Given the description of an element on the screen output the (x, y) to click on. 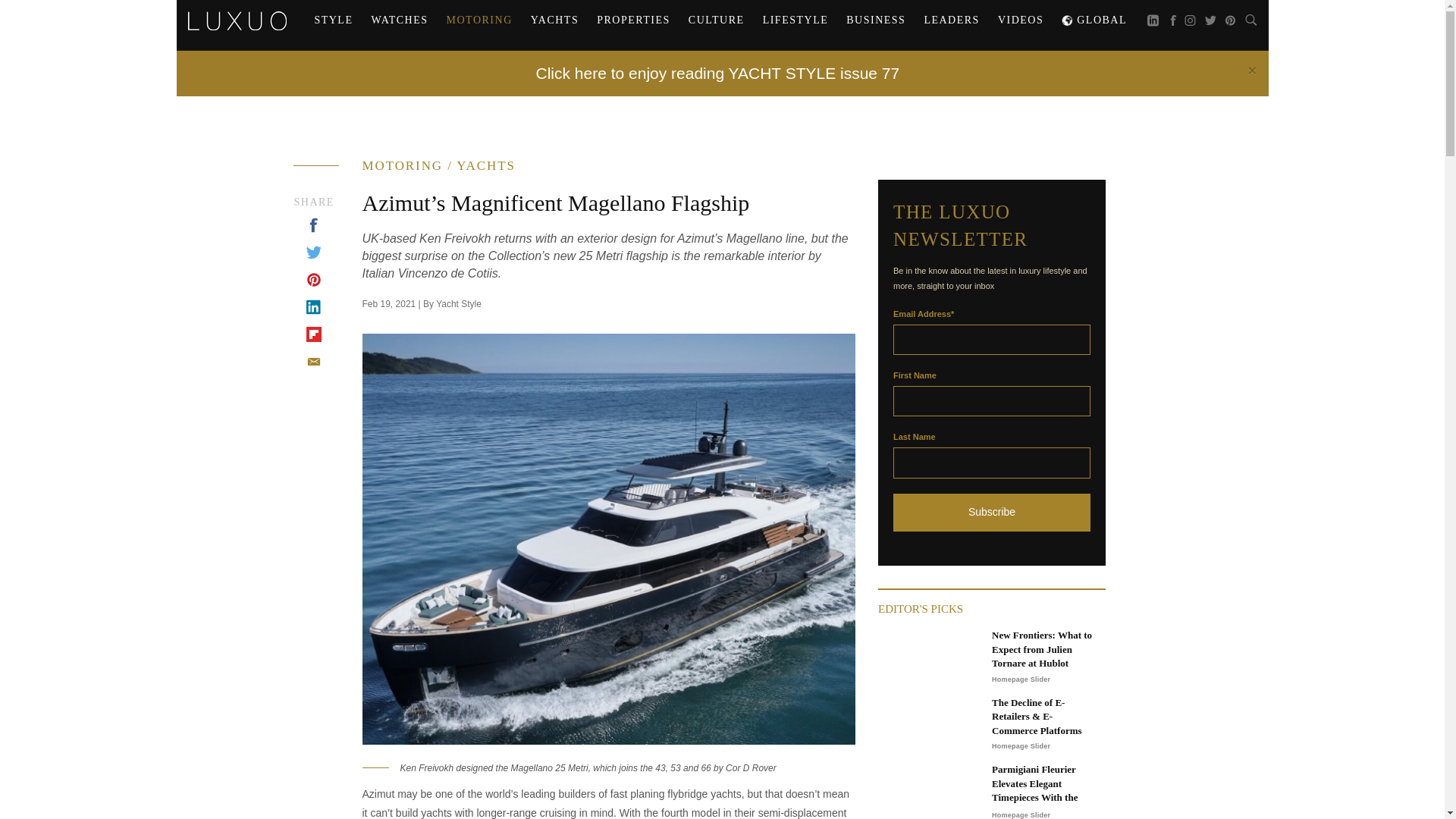
MOTORING (479, 20)
STYLE (332, 20)
PROPERTIES (633, 20)
LUXUO - The Luxury Lifestyle Portal (236, 18)
Subscribe (991, 512)
LUXUO - The Luxury Lifestyle Portal (236, 20)
WATCHES (398, 20)
YACHTS (554, 20)
